Given the description of an element on the screen output the (x, y) to click on. 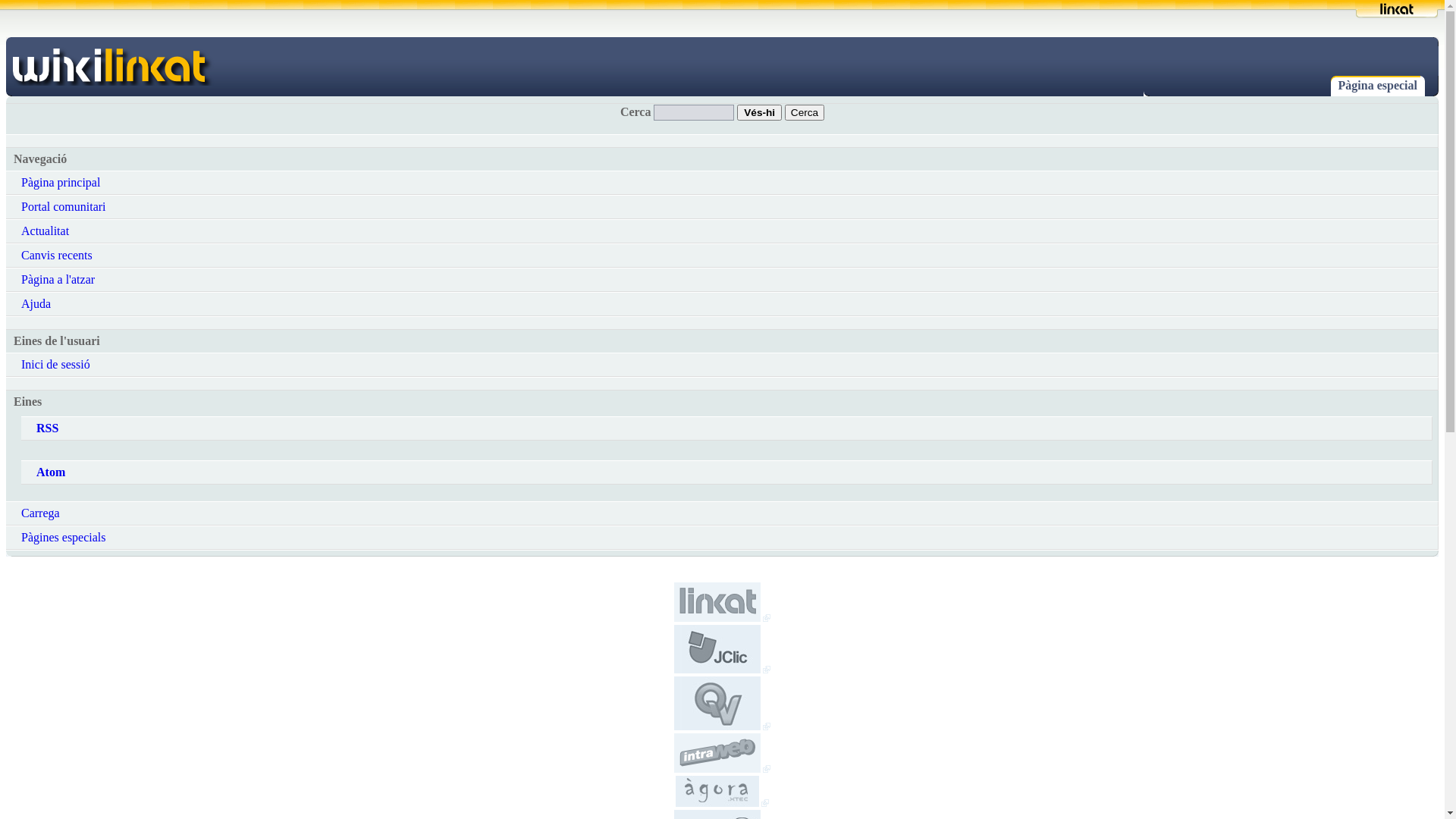
Ajuda Element type: text (722, 303)
Carrega Element type: text (722, 513)
Canvis recents Element type: text (722, 255)
Atom Element type: text (726, 472)
Cerca Element type: text (804, 112)
Portal comunitari Element type: text (722, 206)
RSS Element type: text (726, 428)
Wiki Linkat Element type: text (1396, 9)
Actualitat Element type: text (722, 231)
